Given the description of an element on the screen output the (x, y) to click on. 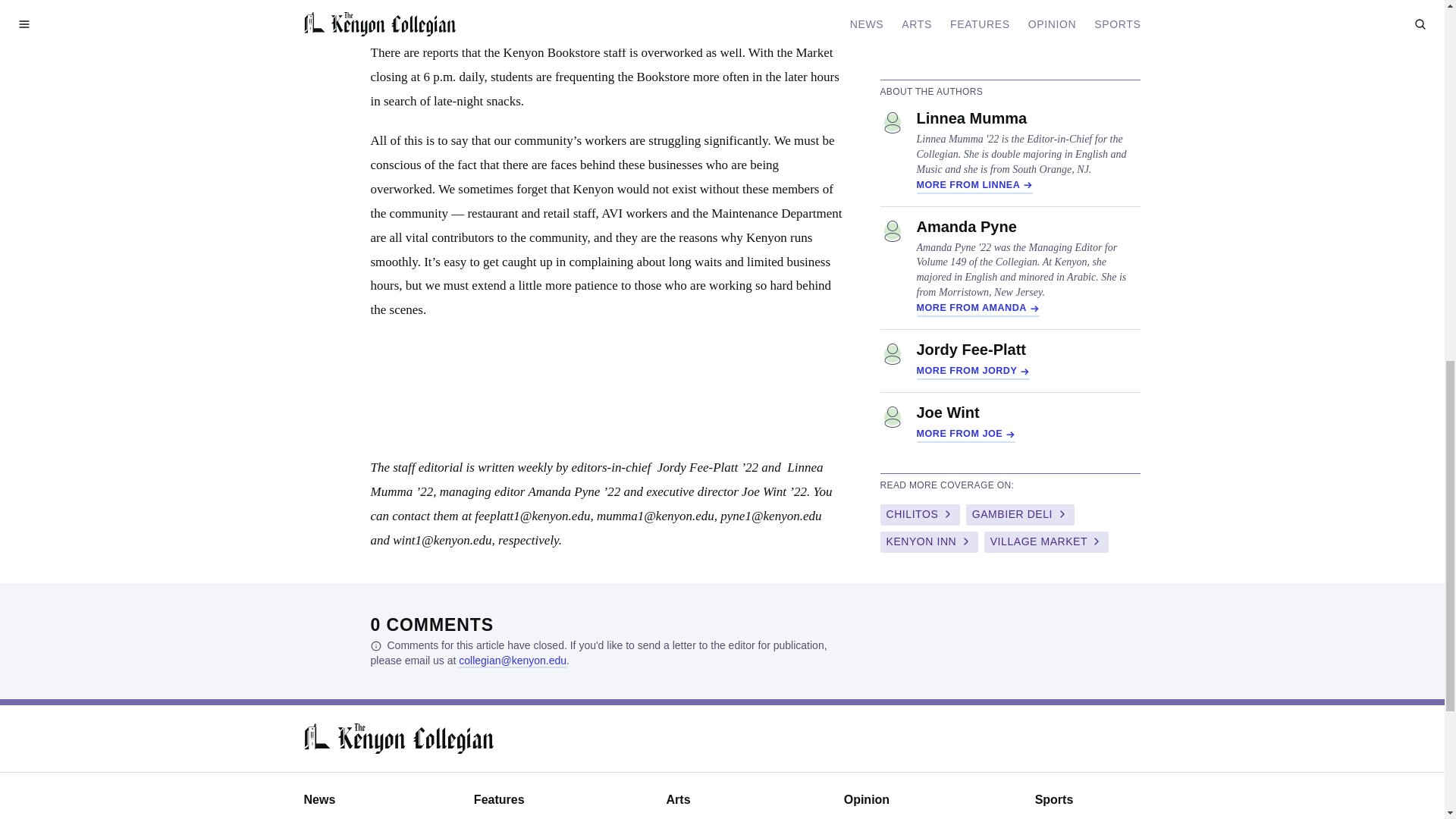
MORE FROM JOE (964, 435)
MORE FROM AMANDA (977, 309)
VILLAGE MARKET (1046, 541)
MORE FROM JORDY (972, 372)
MORE FROM LINNEA (973, 186)
CHILITOS (919, 514)
KENYON INN (927, 541)
GAMBIER DELI (1020, 514)
